Given the description of an element on the screen output the (x, y) to click on. 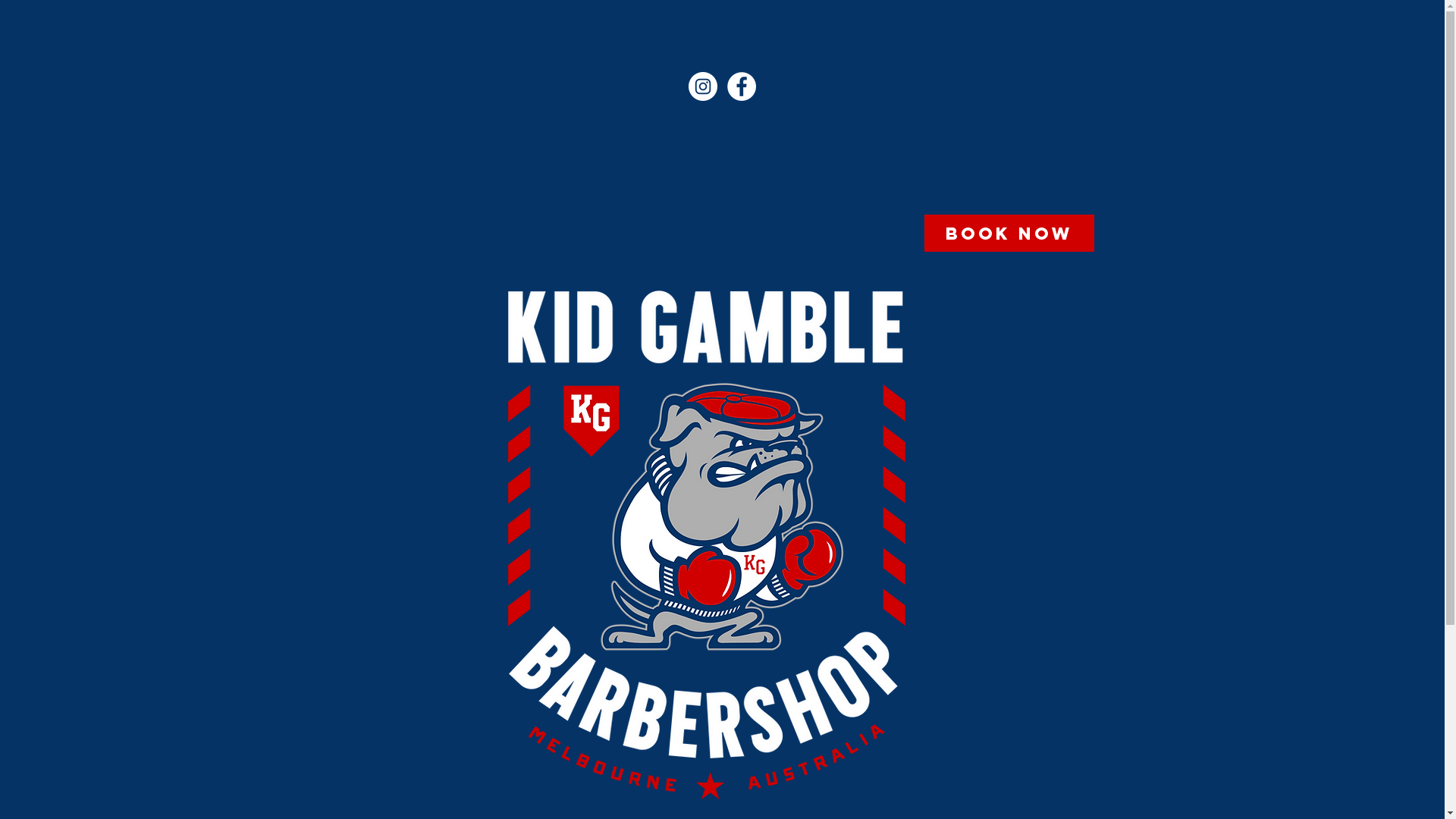
BOOK NOW Element type: text (1008, 232)
Barbershop Policy Element type: text (355, 86)
